Given the description of an element on the screen output the (x, y) to click on. 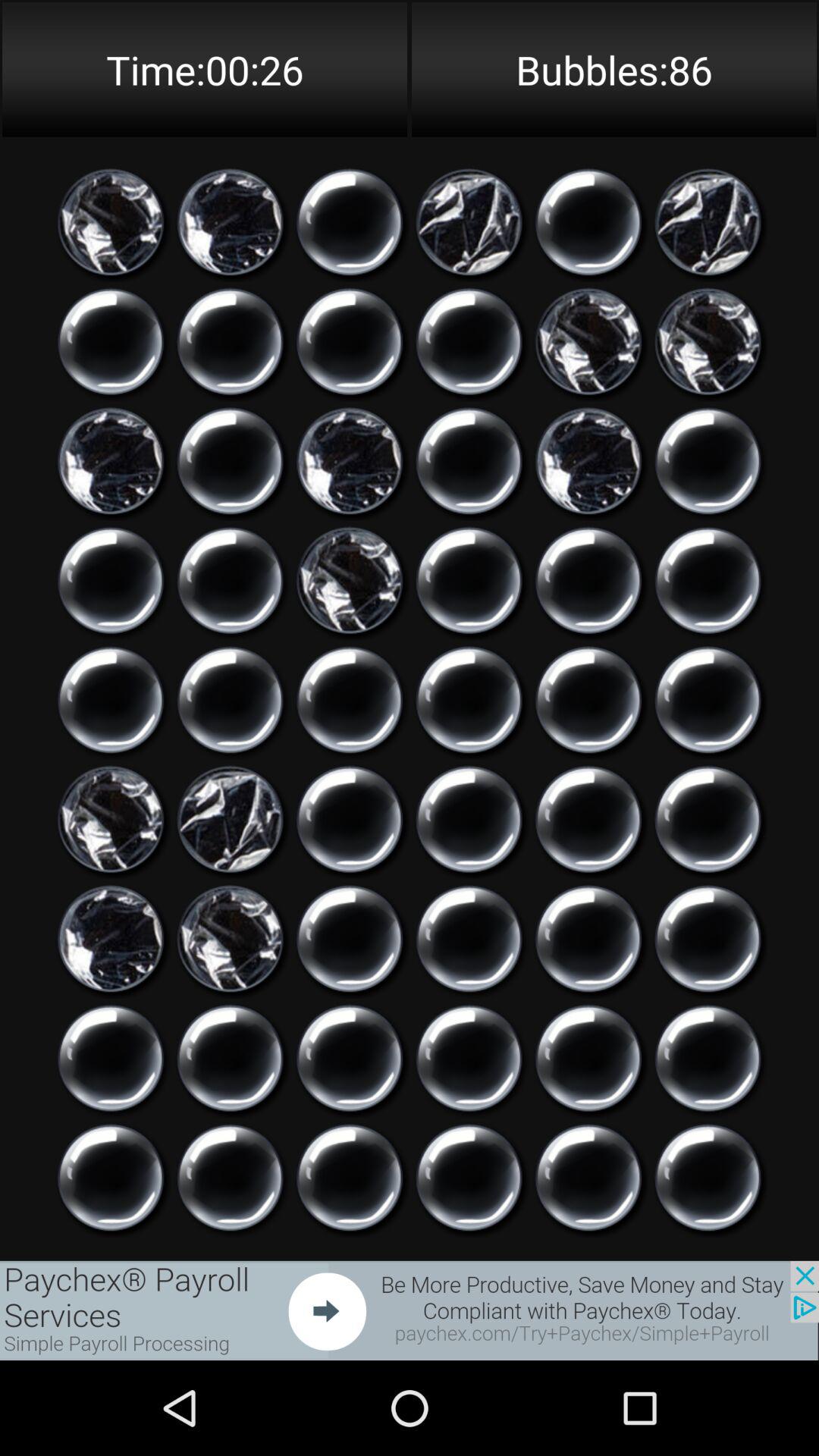
option (110, 1177)
